Given the description of an element on the screen output the (x, y) to click on. 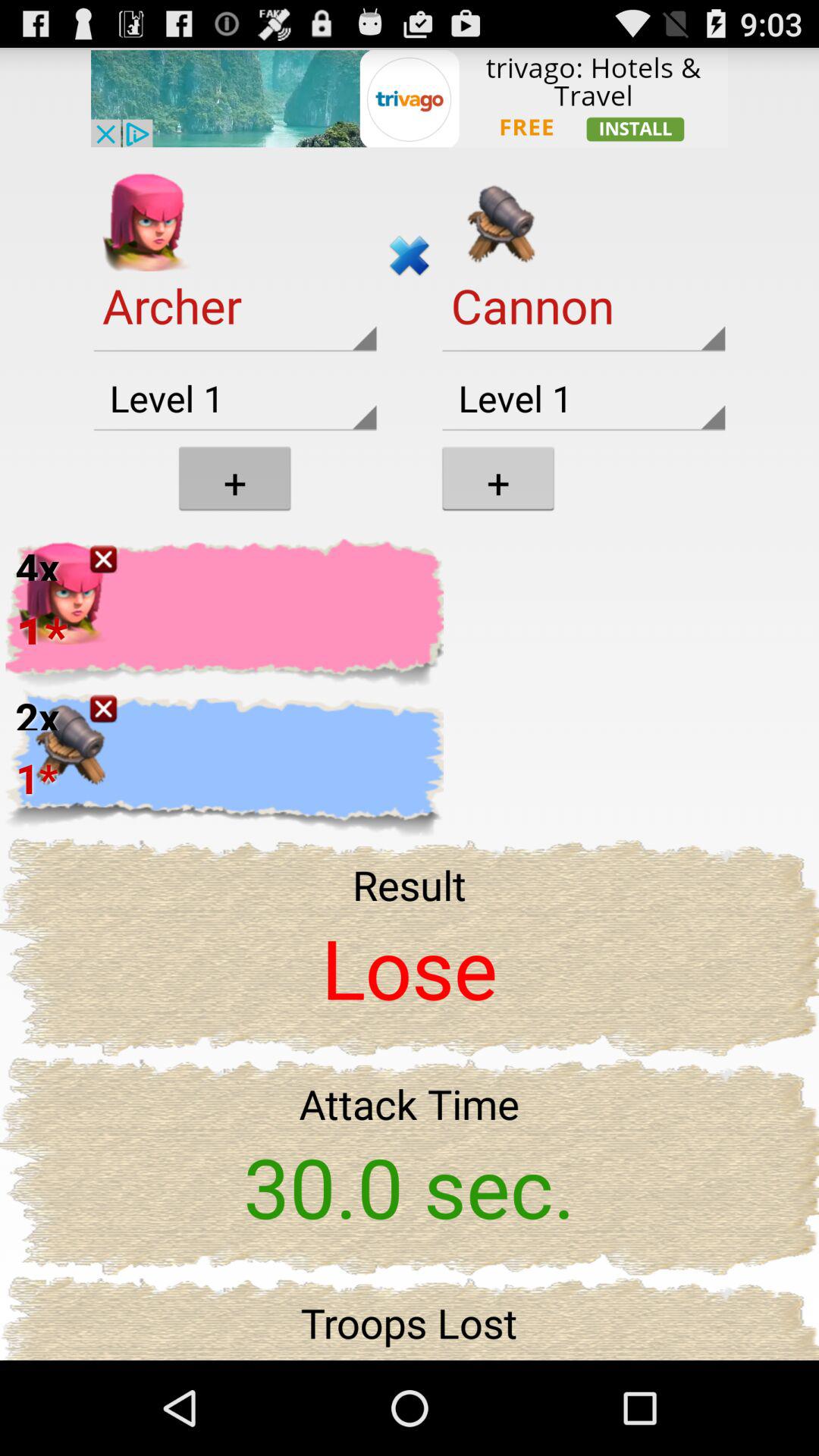
click advertisement (409, 97)
